Given the description of an element on the screen output the (x, y) to click on. 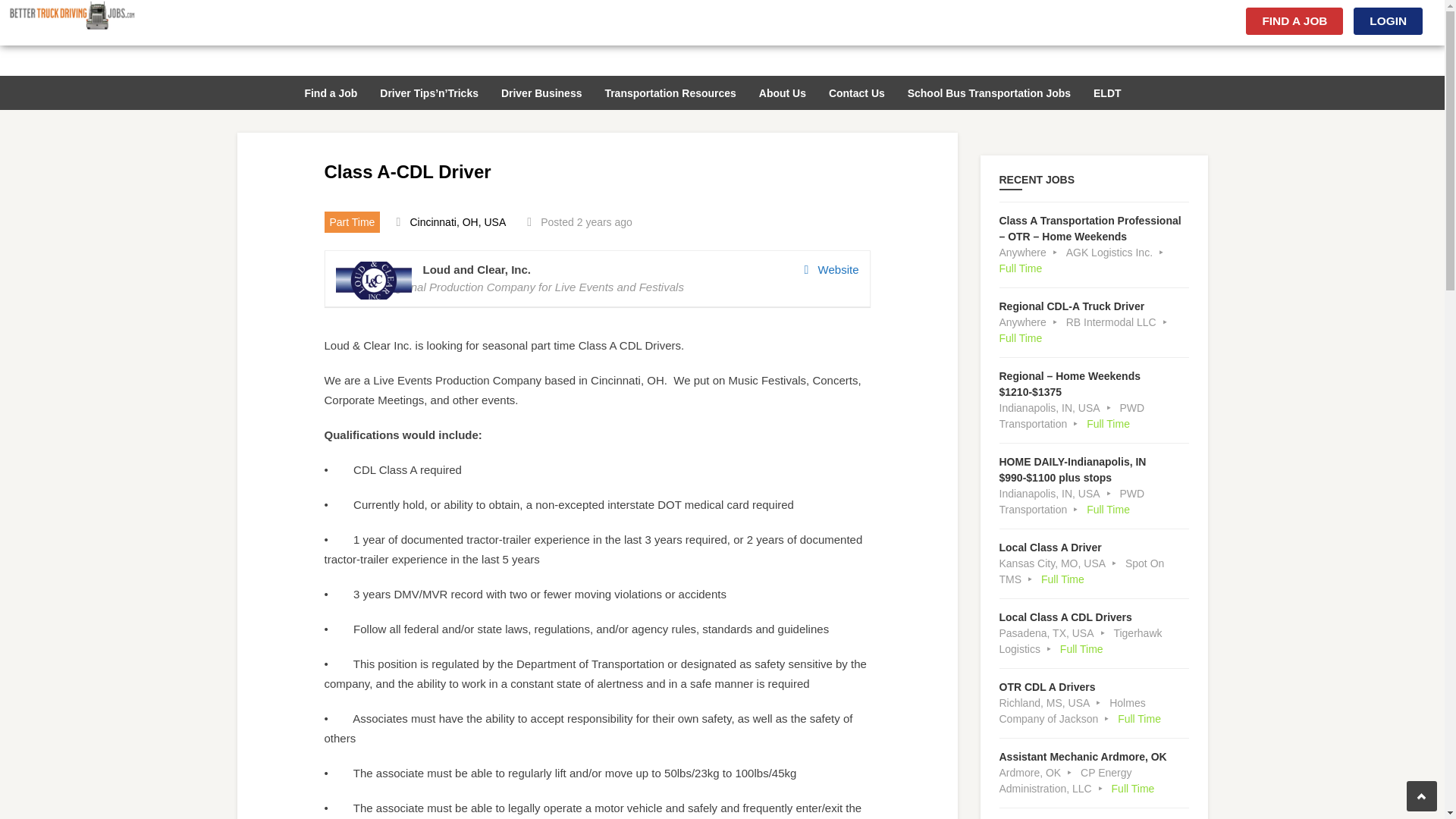
Driver Business (541, 91)
Class A-CDL Driver 1 (372, 280)
LOGIN (1388, 21)
Transportation Resources (670, 91)
Contact Us (856, 91)
FIND A JOB (1294, 21)
About Us (782, 91)
Website (832, 270)
Find a Job (330, 91)
Cincinnati, OH, USA (457, 222)
